Given the description of an element on the screen output the (x, y) to click on. 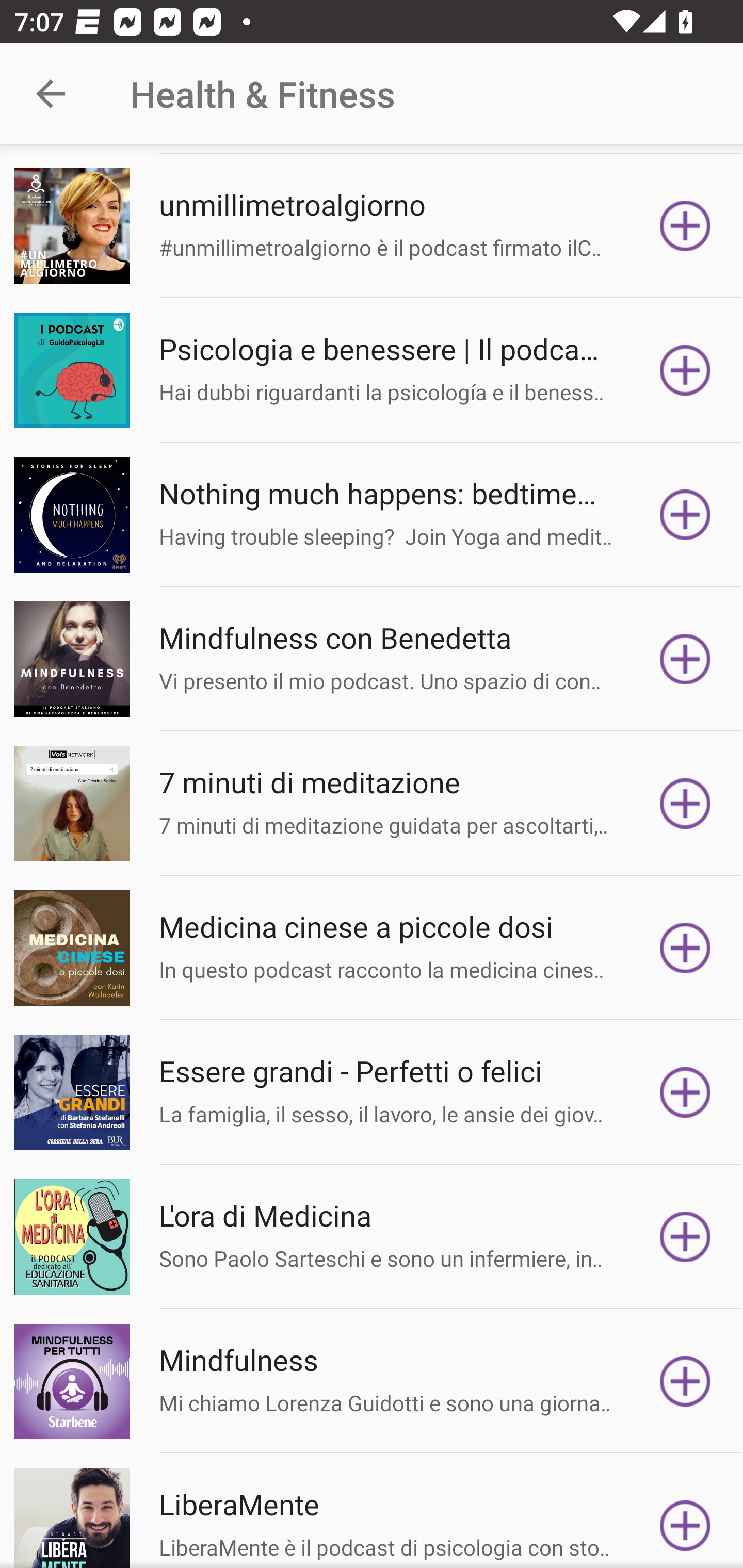
Navigate up (50, 93)
Subscribe (685, 225)
Subscribe (685, 370)
Subscribe (685, 514)
Subscribe (685, 659)
Subscribe (685, 803)
Subscribe (685, 947)
Subscribe (685, 1092)
Subscribe (685, 1237)
Subscribe (685, 1381)
Subscribe (685, 1517)
